Given the description of an element on the screen output the (x, y) to click on. 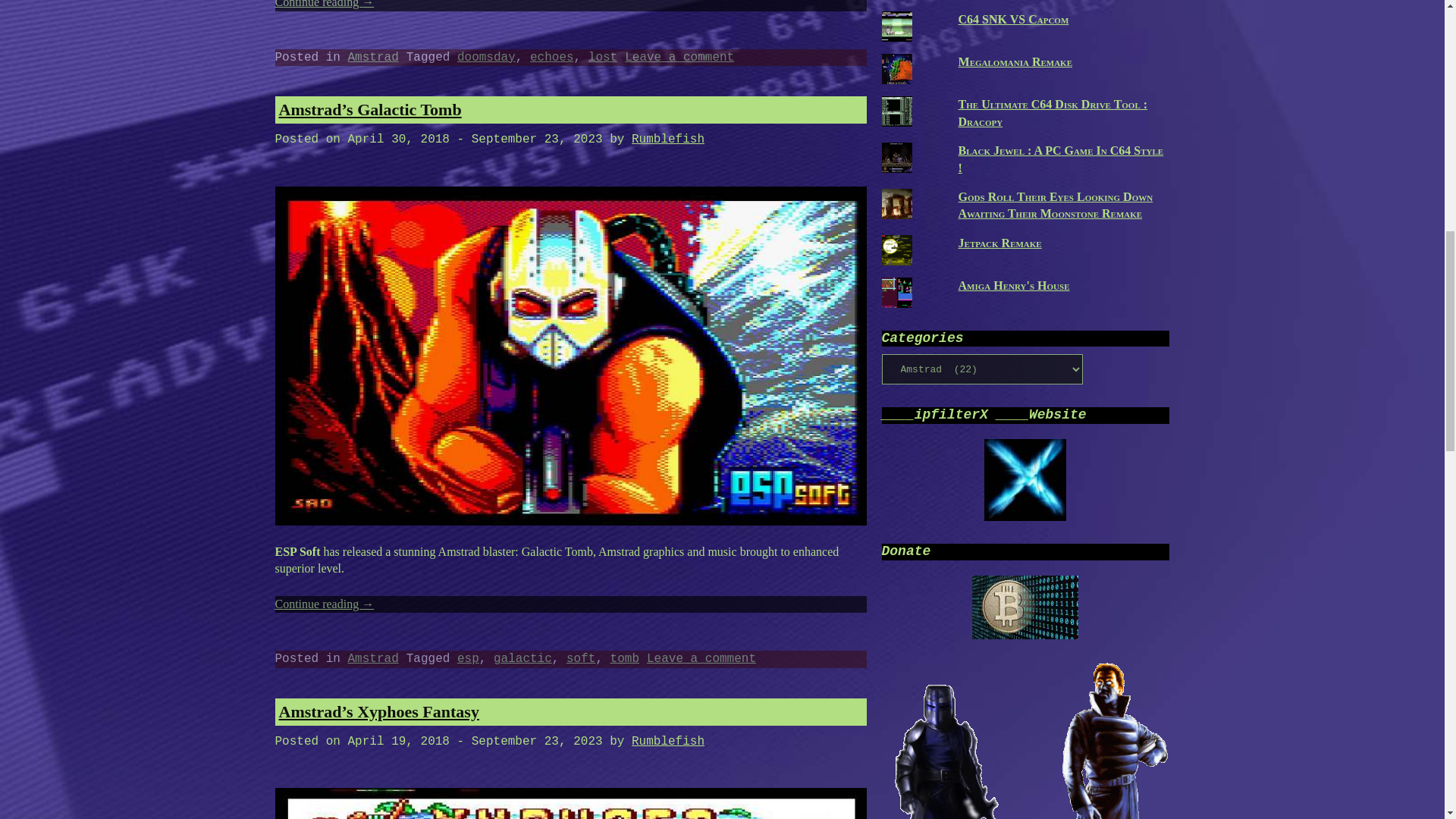
lost (602, 57)
doomsday (486, 57)
Leave a comment (678, 57)
Amstrad (372, 57)
echoes (551, 57)
